Given the description of an element on the screen output the (x, y) to click on. 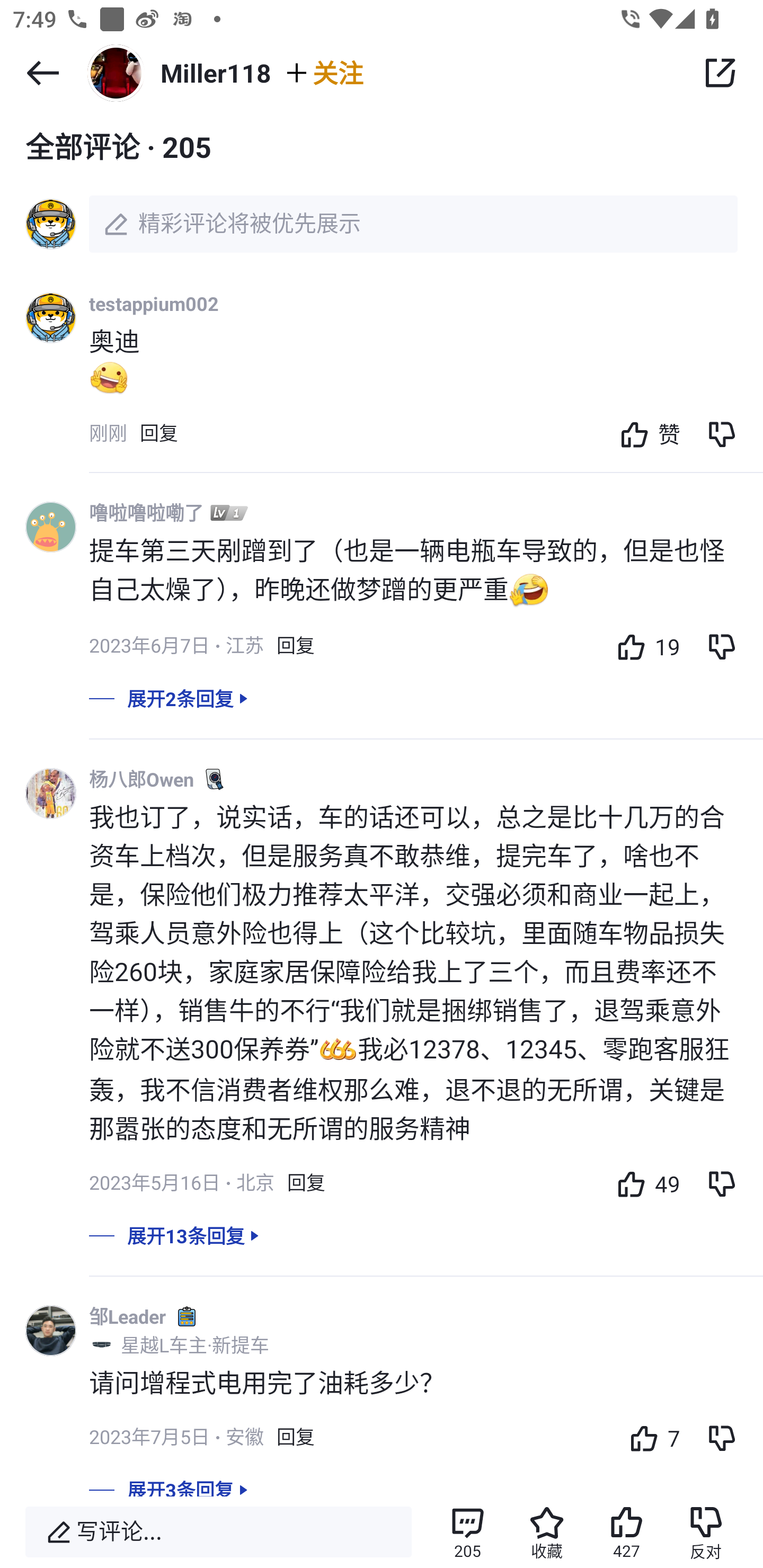
 (42, 72)
 (720, 72)
 关注 (323, 71)
 精彩评论将被优先展示 (381, 224)
testappium002 奥迪
[耶] 刚刚 回复 赞 (426, 379)
testappium002 (153, 303)
赞 (645, 433)
噜啦噜啦嘞了 (146, 512)
19 (643, 645)
展开2条回复  (381, 710)
杨八郎Owen (141, 779)
49 (643, 1183)
展开13条回复  (381, 1248)
邹Leader (127, 1316)
7 (649, 1437)
展开3条回复  (381, 1485)
 205 (467, 1531)
收藏 (546, 1531)
427 (625, 1531)
反对 (705, 1531)
 写评论... (218, 1531)
